Given the description of an element on the screen output the (x, y) to click on. 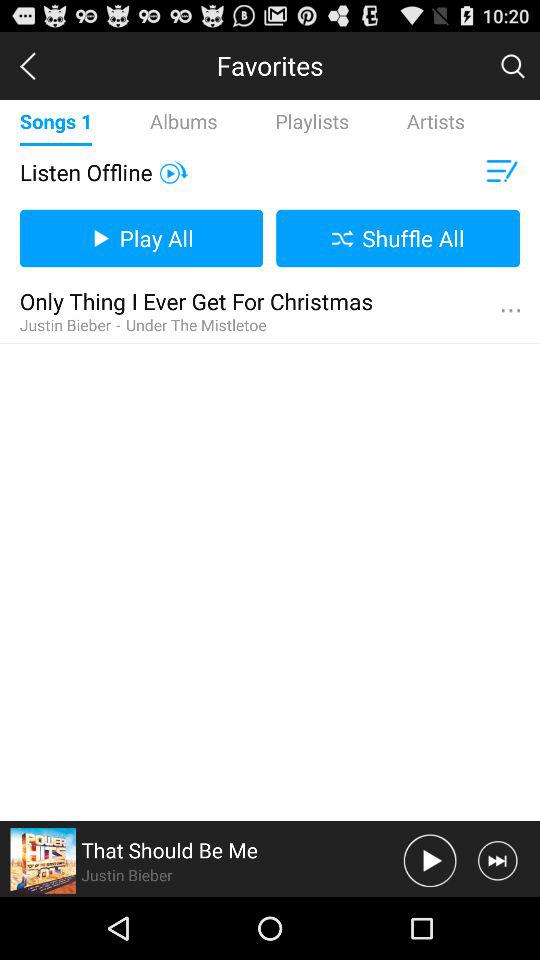
go to pass botten (429, 860)
